Given the description of an element on the screen output the (x, y) to click on. 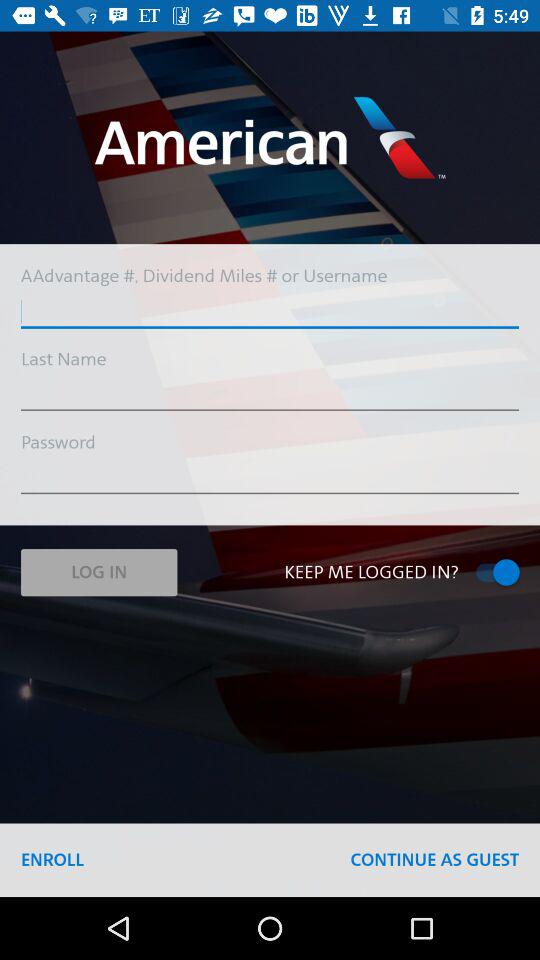
swipe until enroll (52, 859)
